Given the description of an element on the screen output the (x, y) to click on. 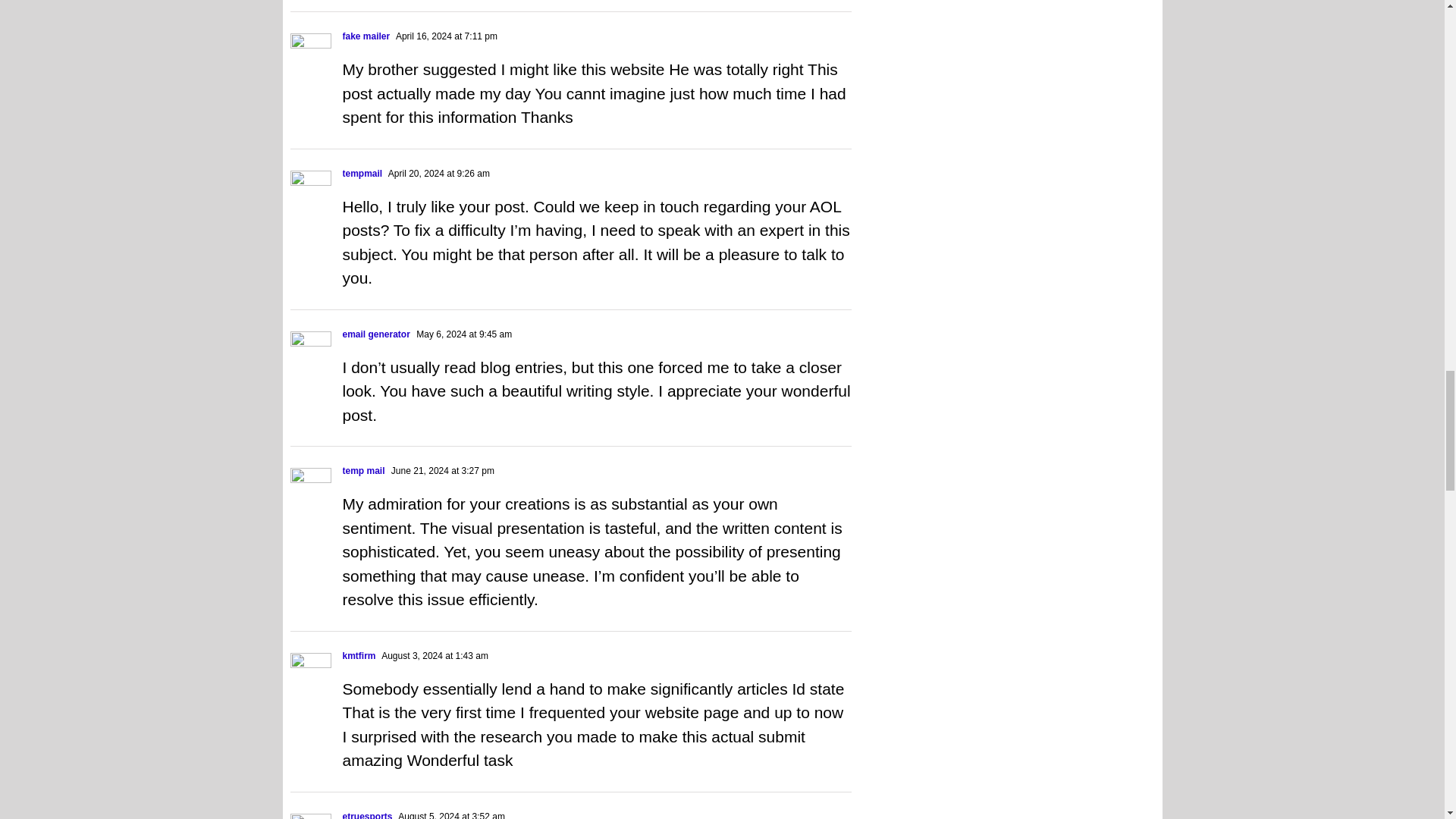
email generator (376, 334)
tempmail (362, 173)
temp mail (363, 470)
fake mailer (366, 36)
